Given the description of an element on the screen output the (x, y) to click on. 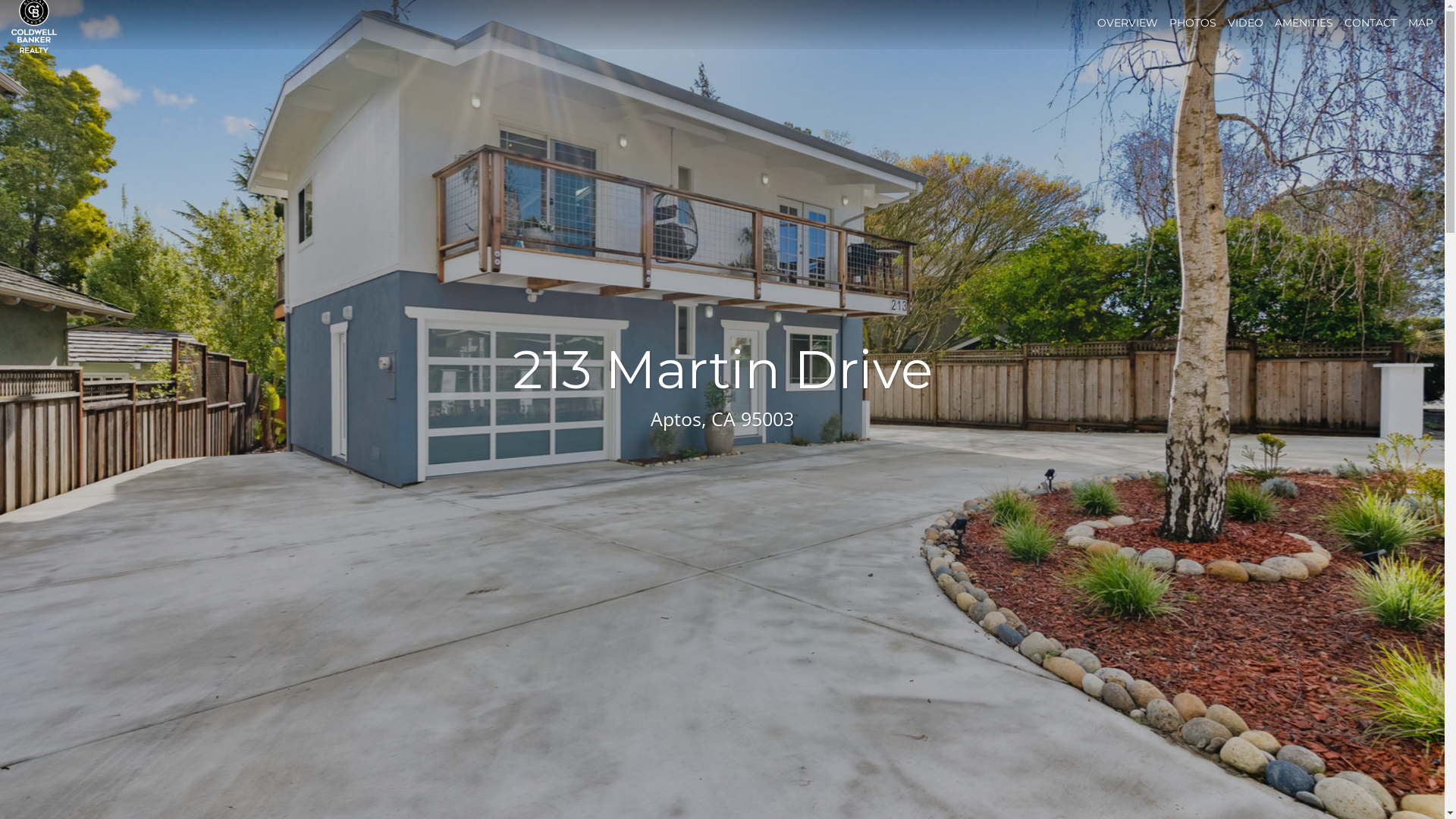
MAP Element type: text (1420, 22)
AMENITIES Element type: text (1303, 22)
OVERVIEW Element type: text (1127, 22)
PHOTOS Element type: text (1192, 22)
VIDEO Element type: text (1245, 22)
CONTACT Element type: text (1370, 22)
